Given the description of an element on the screen output the (x, y) to click on. 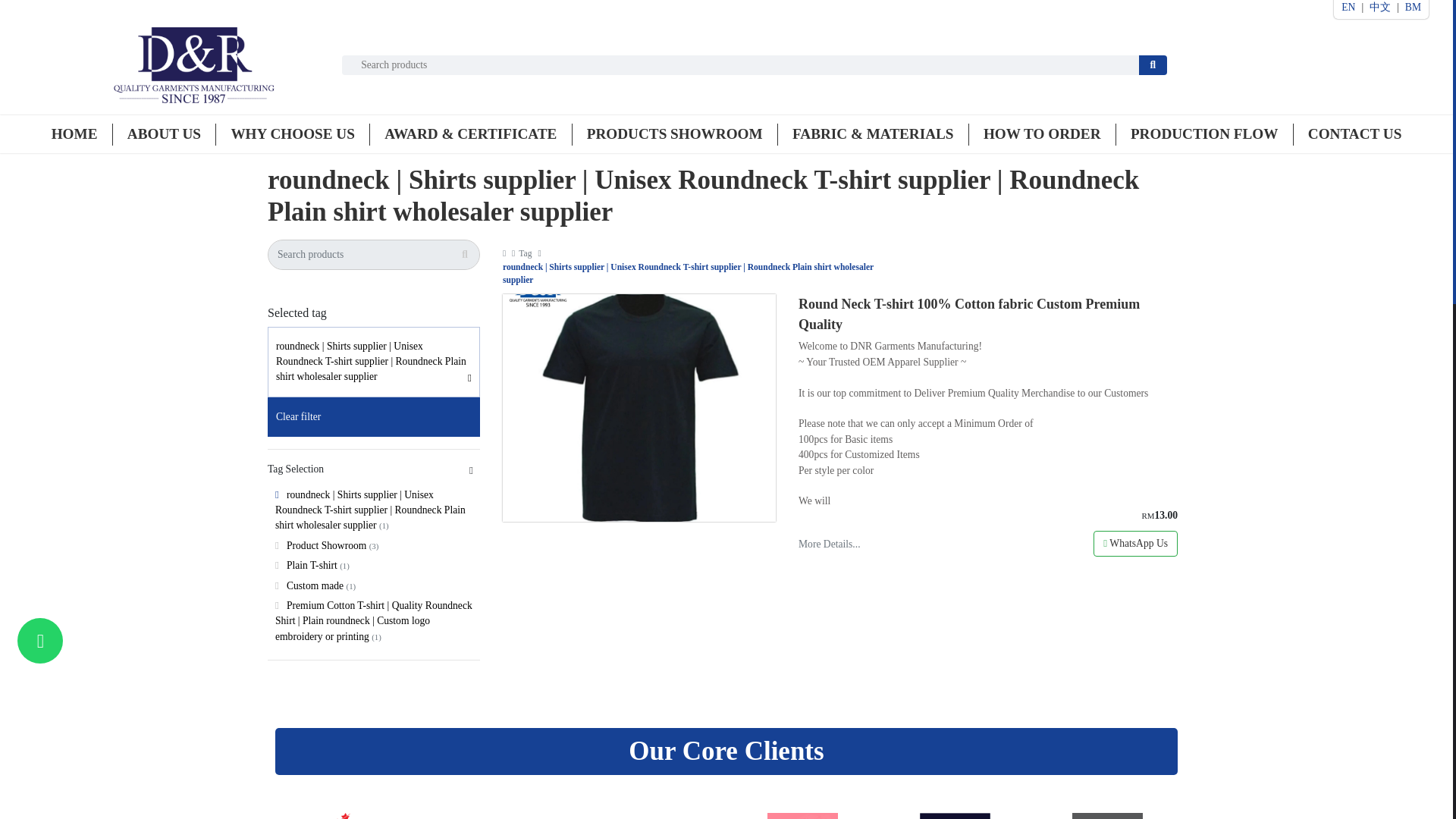
HOW TO ORDER (1042, 133)
How To Order (1042, 133)
HOME (73, 133)
Clear filter (373, 416)
Products Showroom (674, 133)
ABOUT US (164, 133)
CONTACT US (1354, 133)
Production Flow (1204, 133)
PRODUCTION FLOW (1204, 133)
Why Choose Us (291, 133)
